Given the description of an element on the screen output the (x, y) to click on. 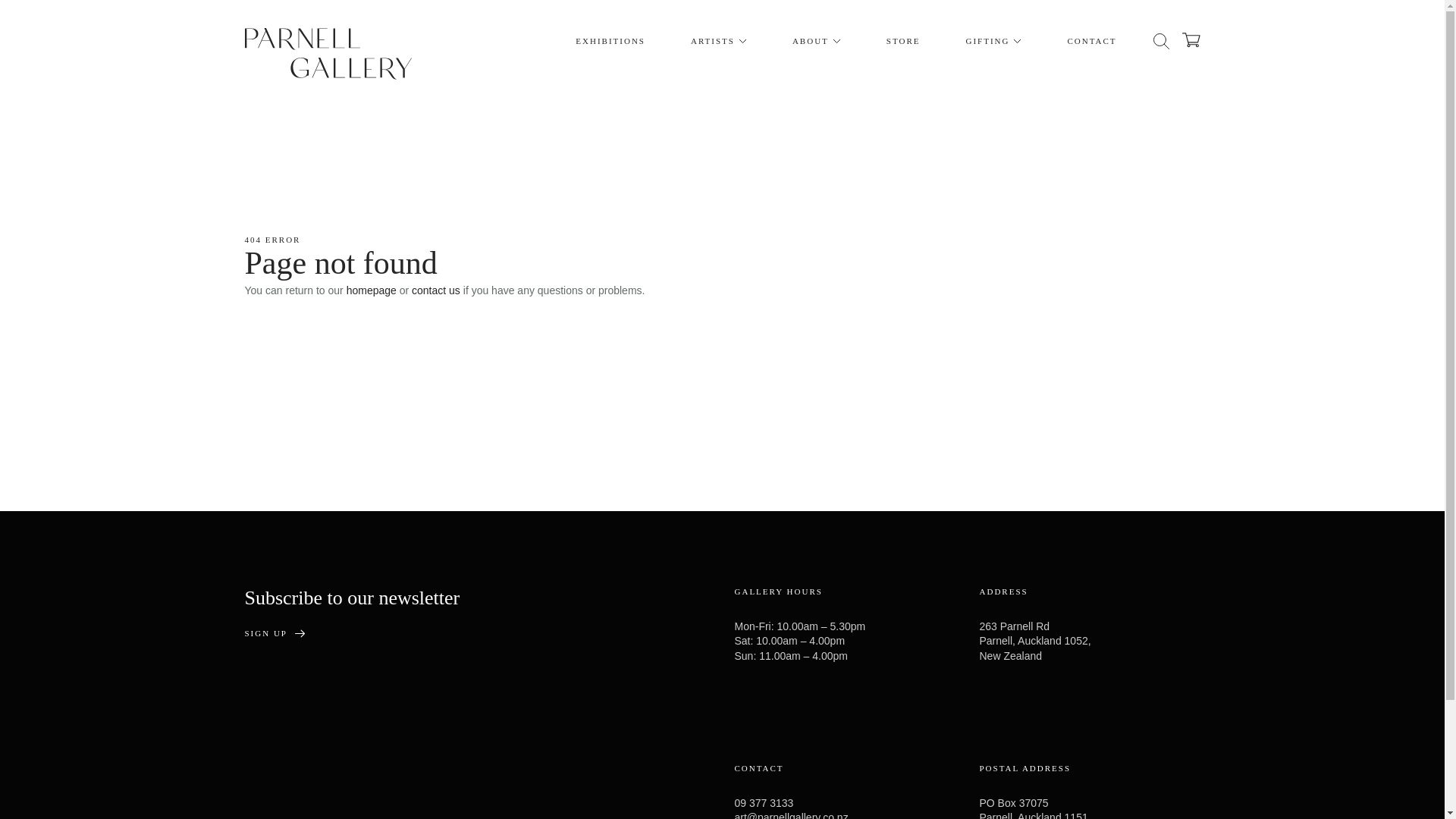
homepage (371, 290)
GIFTING (992, 41)
EXHIBITIONS (610, 41)
contact us (436, 290)
ABOUT (816, 41)
SIGN UP (274, 633)
ARTISTS (719, 41)
09 377 3133 (763, 802)
STORE (903, 41)
CONTACT (1090, 41)
